Given the description of an element on the screen output the (x, y) to click on. 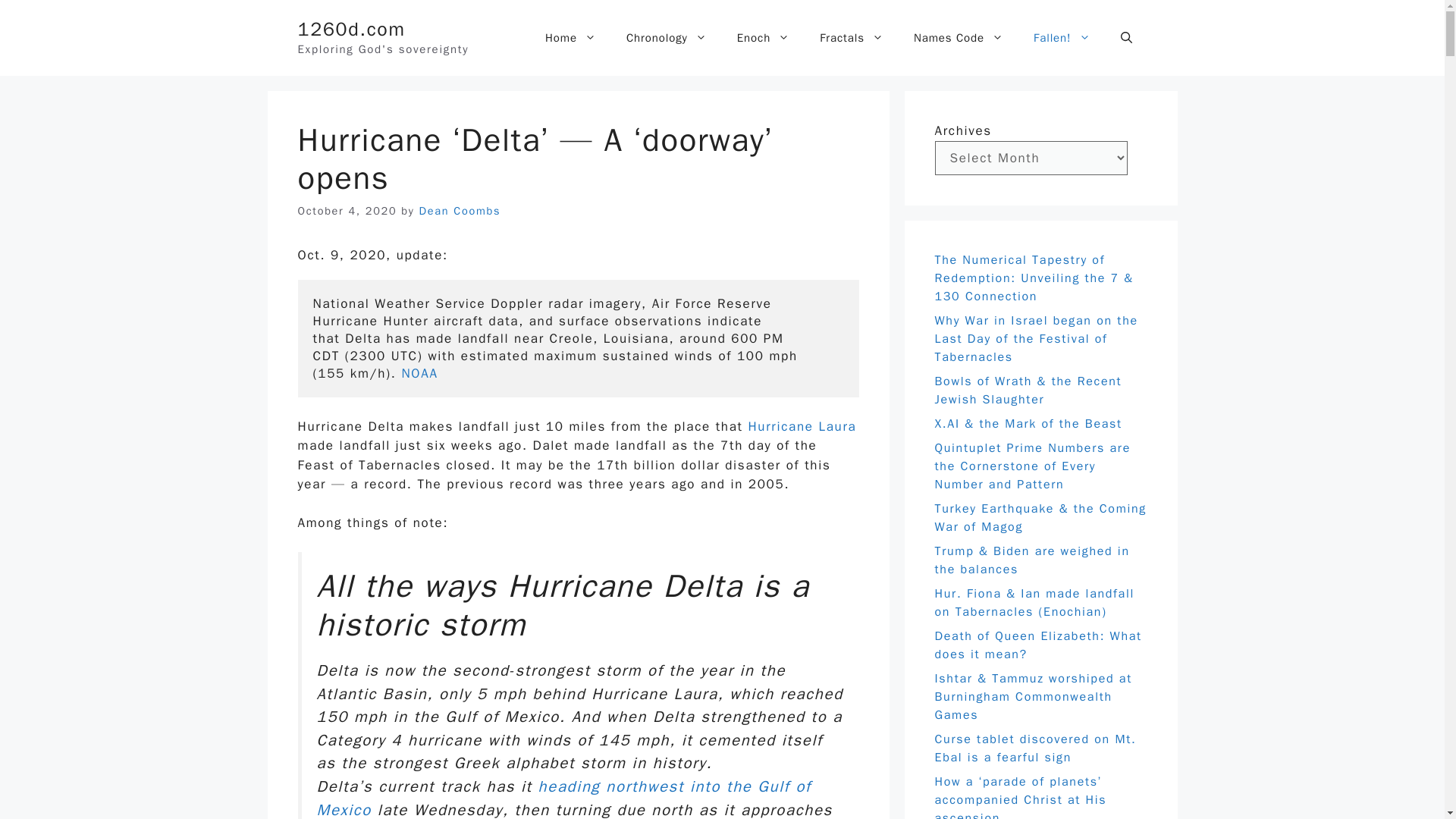
View all posts by Dean Coombs (459, 210)
Home (570, 37)
1260d.com (350, 28)
Chronology (666, 37)
